Given the description of an element on the screen output the (x, y) to click on. 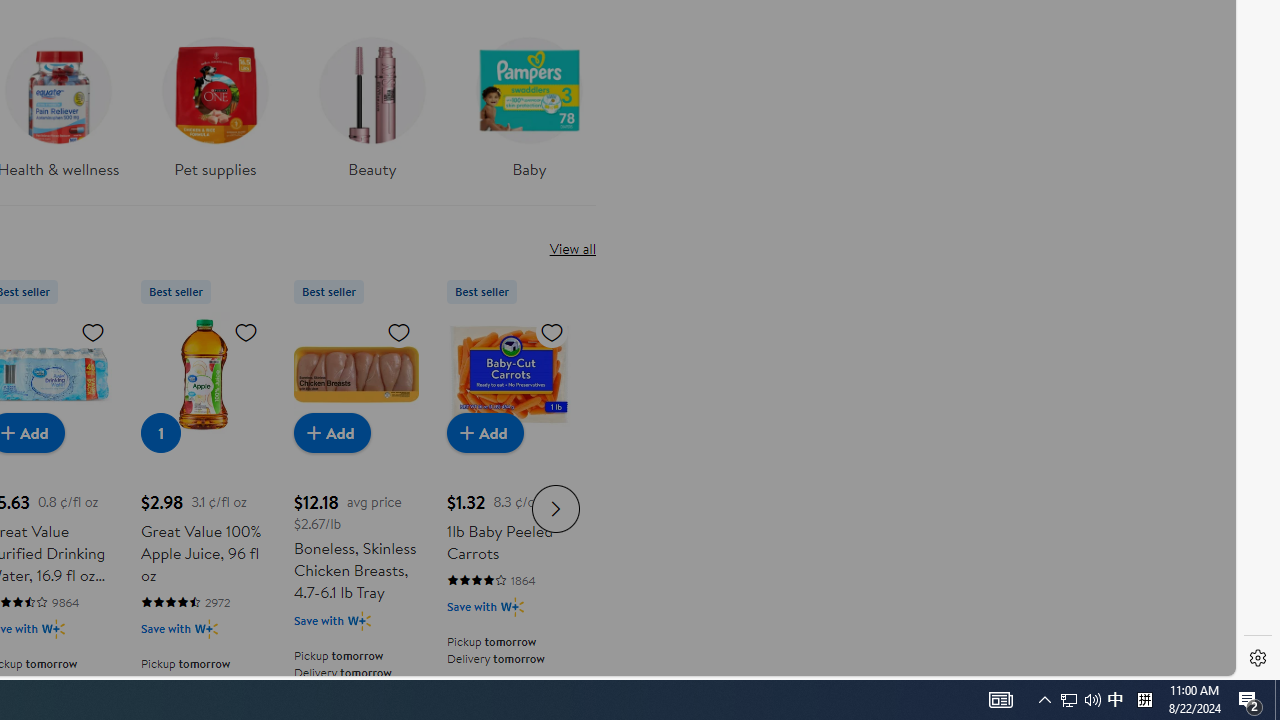
Baby (529, 101)
Walmart Plus (512, 606)
Add to cart - 1lb Baby Peeled Carrots (484, 431)
Beauty (371, 114)
Pet supplies (214, 101)
Great Value 100% Apple Juice, 96 fl oz (203, 374)
Pet supplies (214, 114)
Baby (529, 114)
1 in cart, Great Value 100% Apple Juice, 96 fl oz (160, 431)
Boneless, Skinless Chicken Breasts, 4.7-6.1 lb Tray (356, 374)
